Given the description of an element on the screen output the (x, y) to click on. 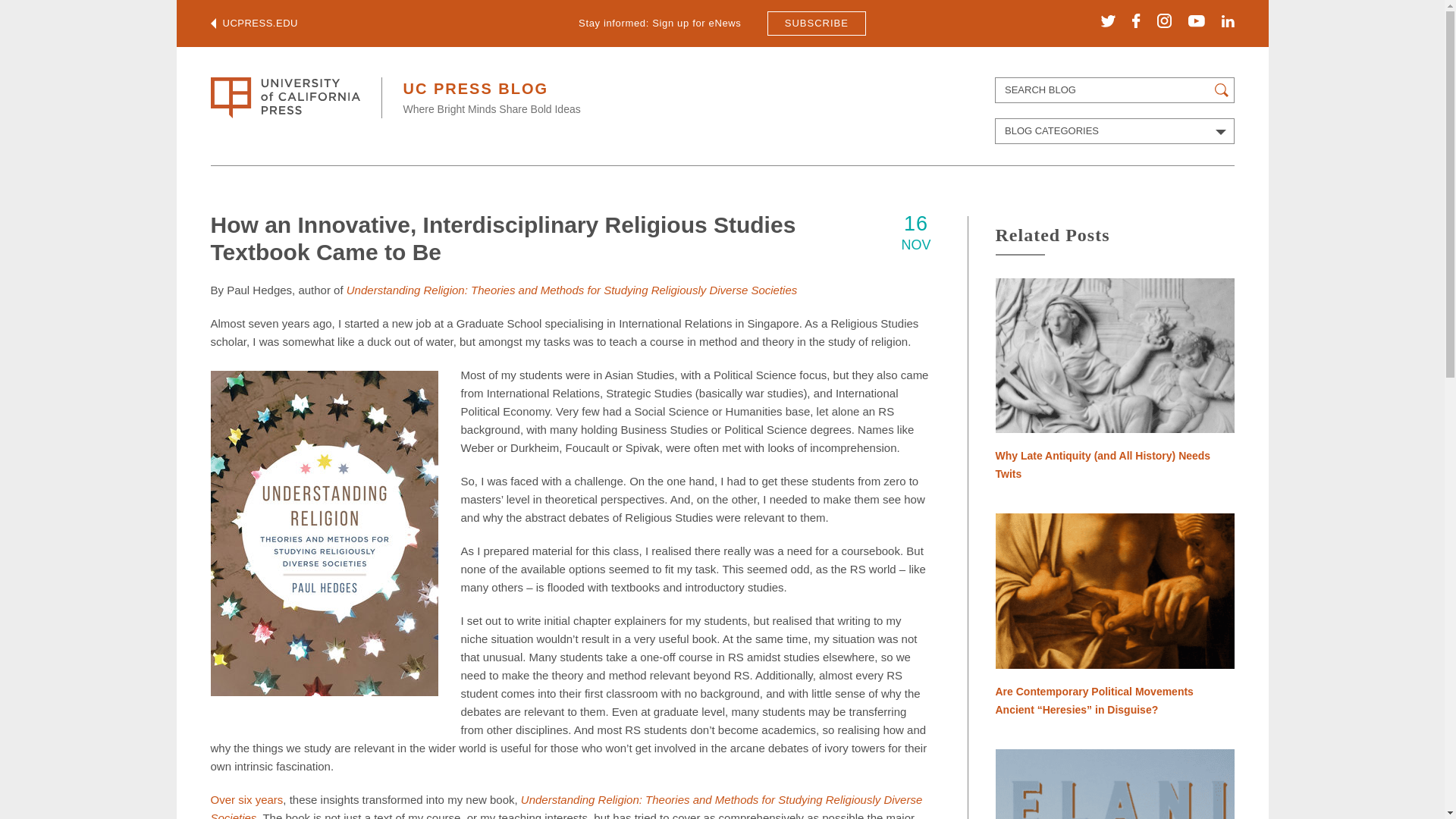
SEARCH BLOG (1114, 89)
Melania and Melania: Two Vexing Icons of Early Christianity (1113, 784)
SEARCH BLOG (1114, 89)
